Given the description of an element on the screen output the (x, y) to click on. 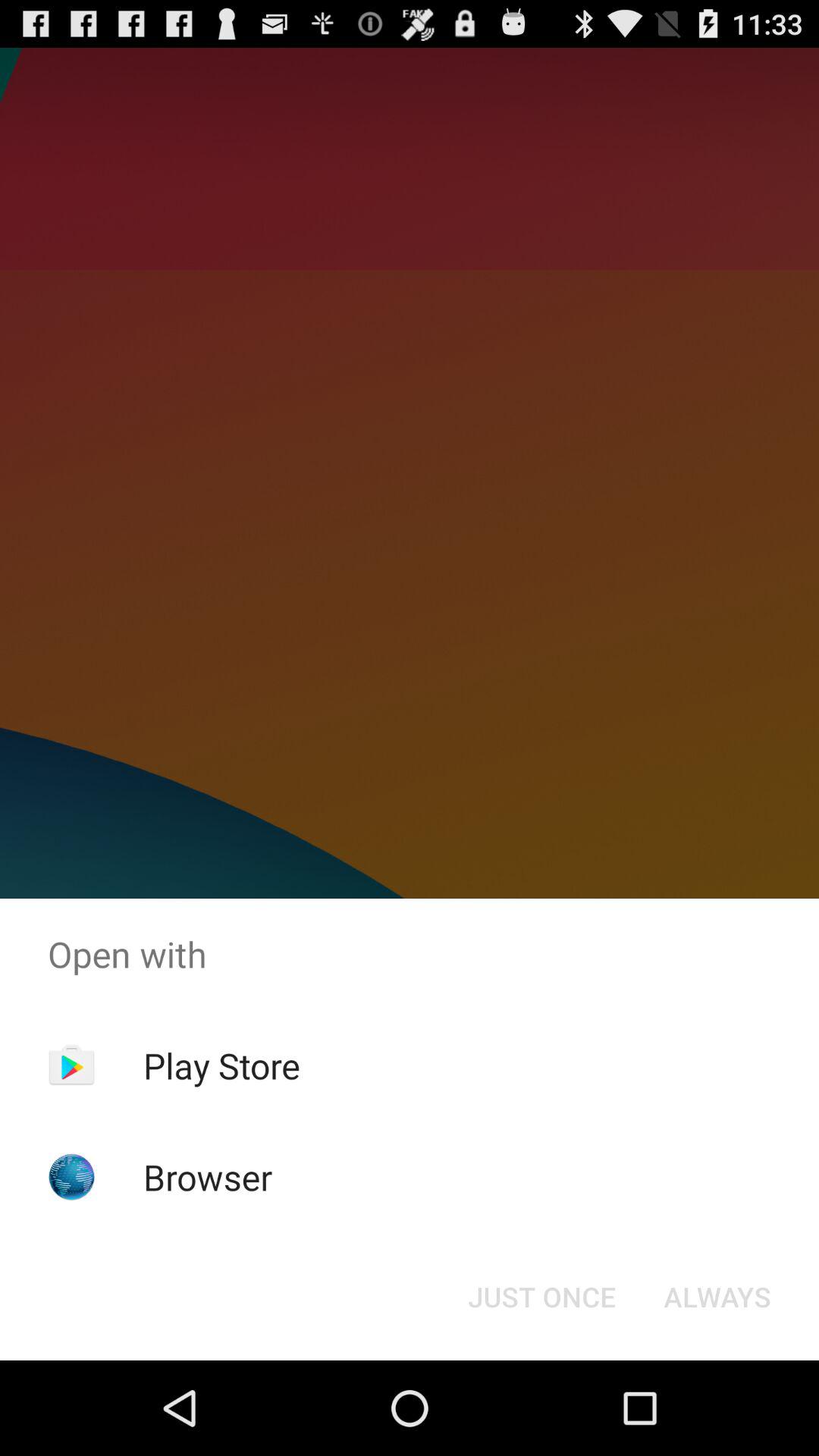
click the browser (207, 1176)
